Given the description of an element on the screen output the (x, y) to click on. 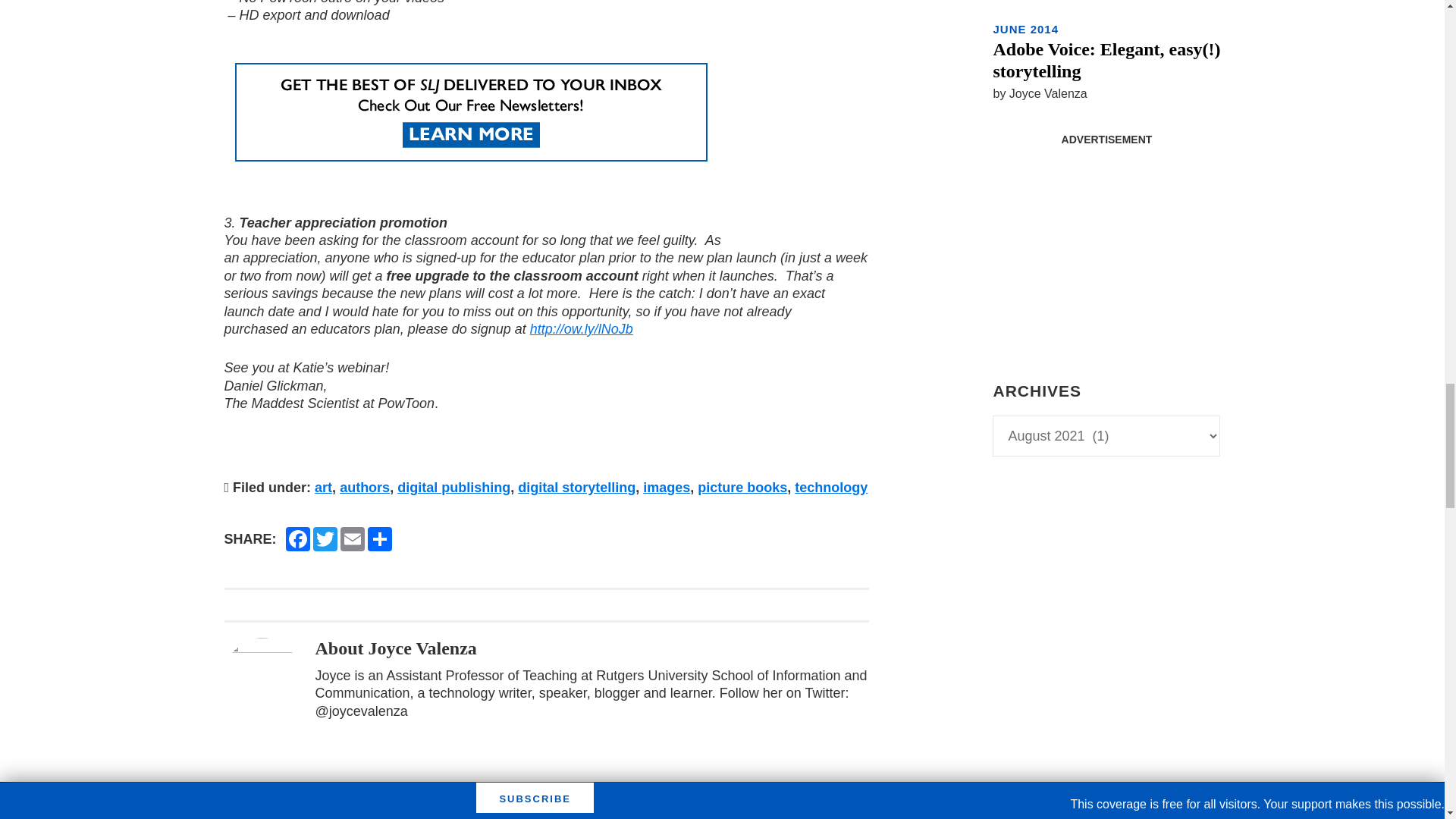
3rd party ad content (1106, 248)
